Given the description of an element on the screen output the (x, y) to click on. 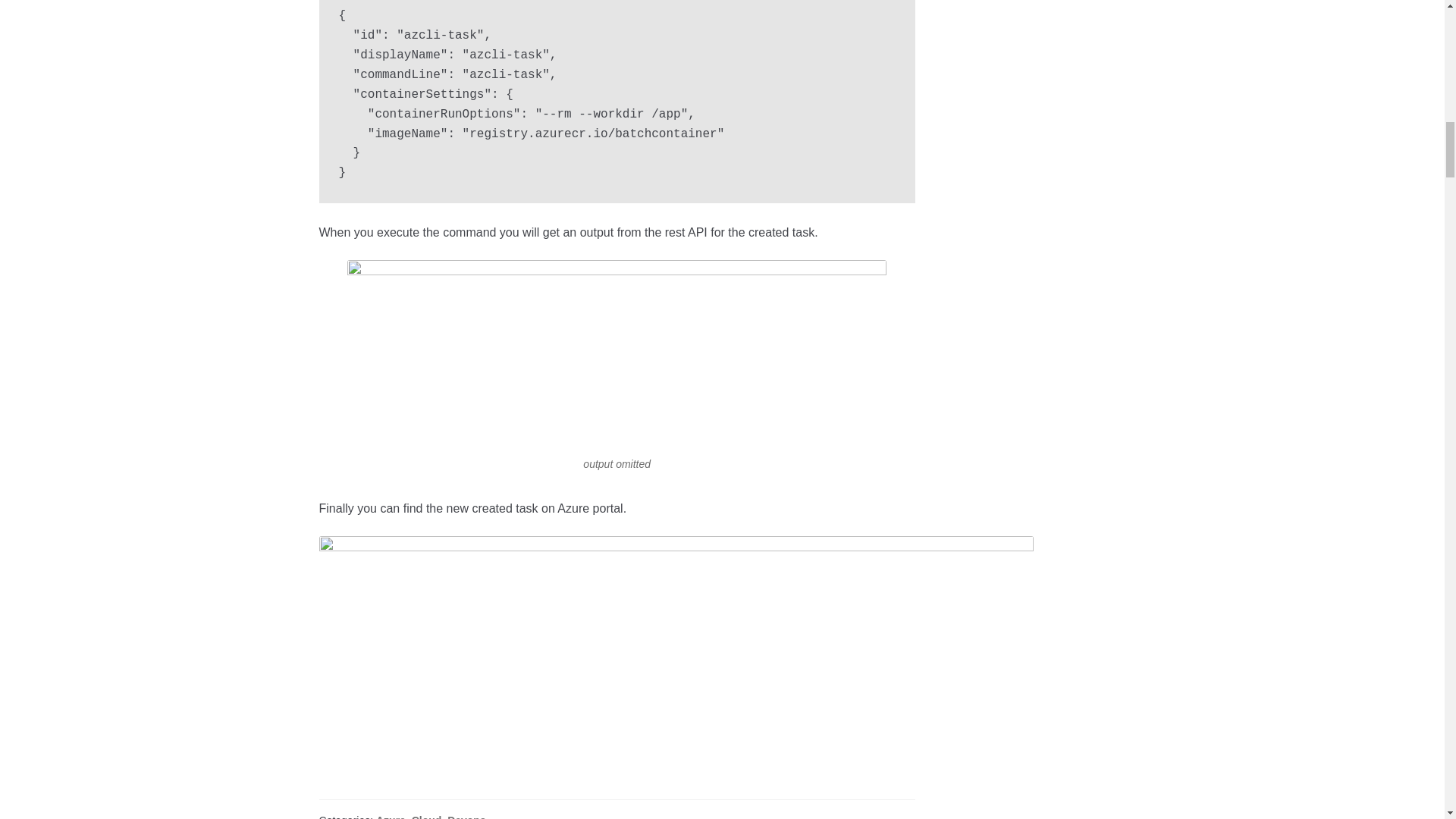
Devops (466, 816)
Cloud (427, 816)
Azure (390, 816)
